Given the description of an element on the screen output the (x, y) to click on. 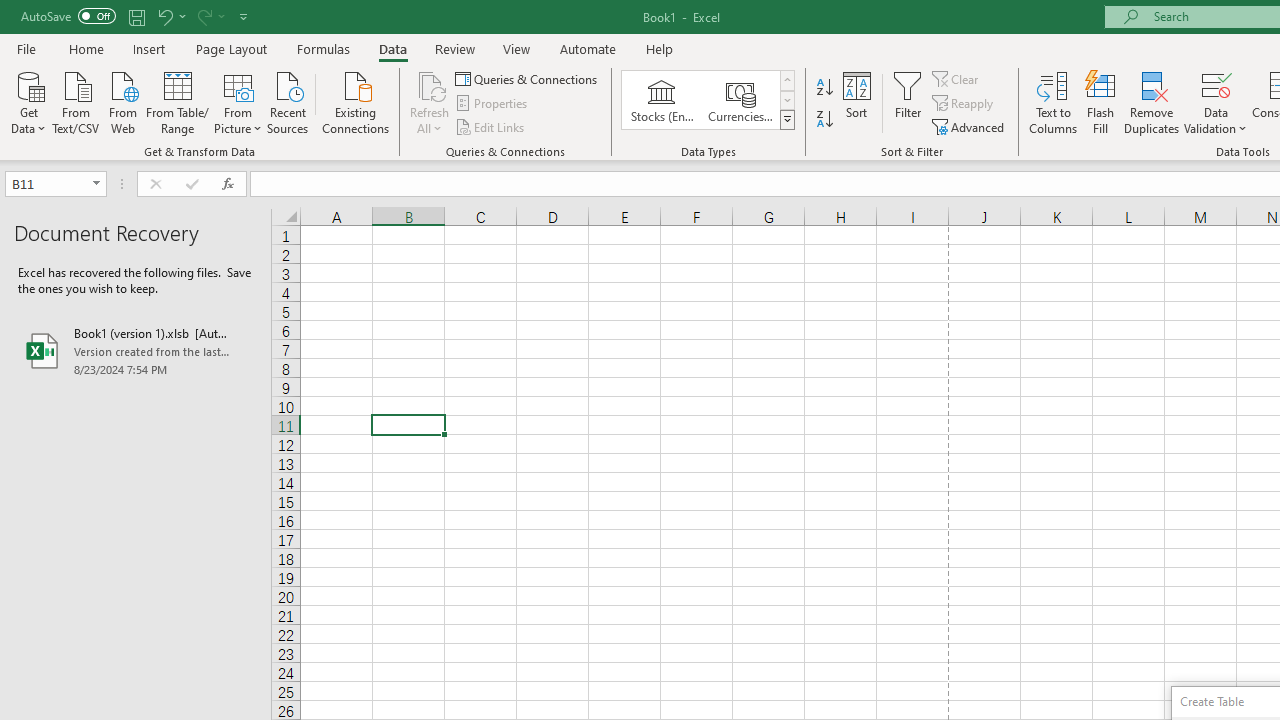
From Text/CSV (75, 101)
Clear (957, 78)
Queries & Connections (527, 78)
Sort A to Z (824, 87)
AutoSave (68, 16)
Existing Connections (355, 101)
Flash Fill (1101, 102)
Data Validation... (1215, 102)
Refresh All (429, 84)
